Given the description of an element on the screen output the (x, y) to click on. 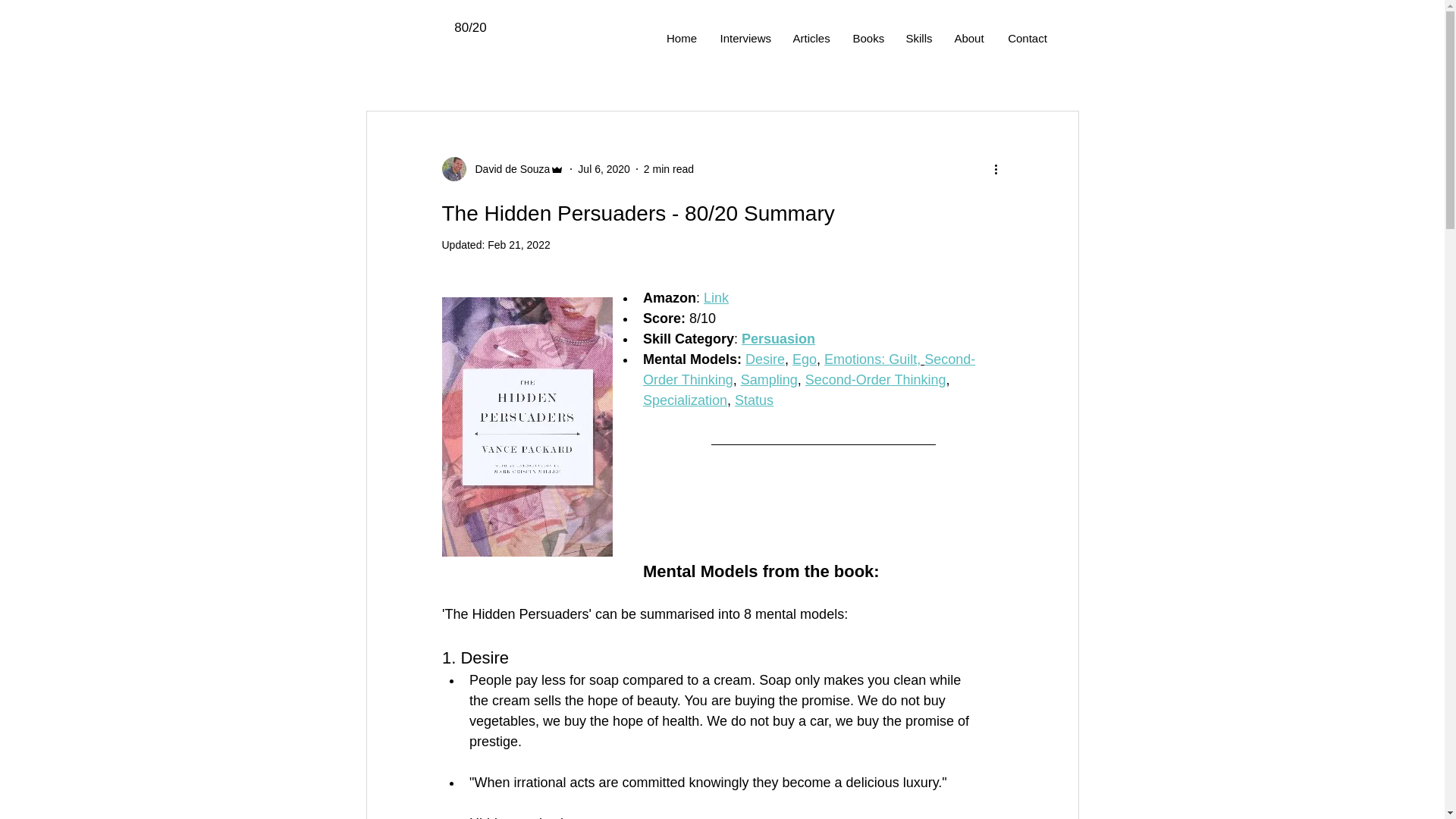
Specialization (684, 400)
Desire (764, 359)
Second-Order Thinking (809, 369)
Books (868, 38)
Link (716, 297)
2 min read (668, 168)
Feb 21, 2022 (518, 244)
Status (754, 400)
Articles (810, 38)
Skills (918, 38)
